Given the description of an element on the screen output the (x, y) to click on. 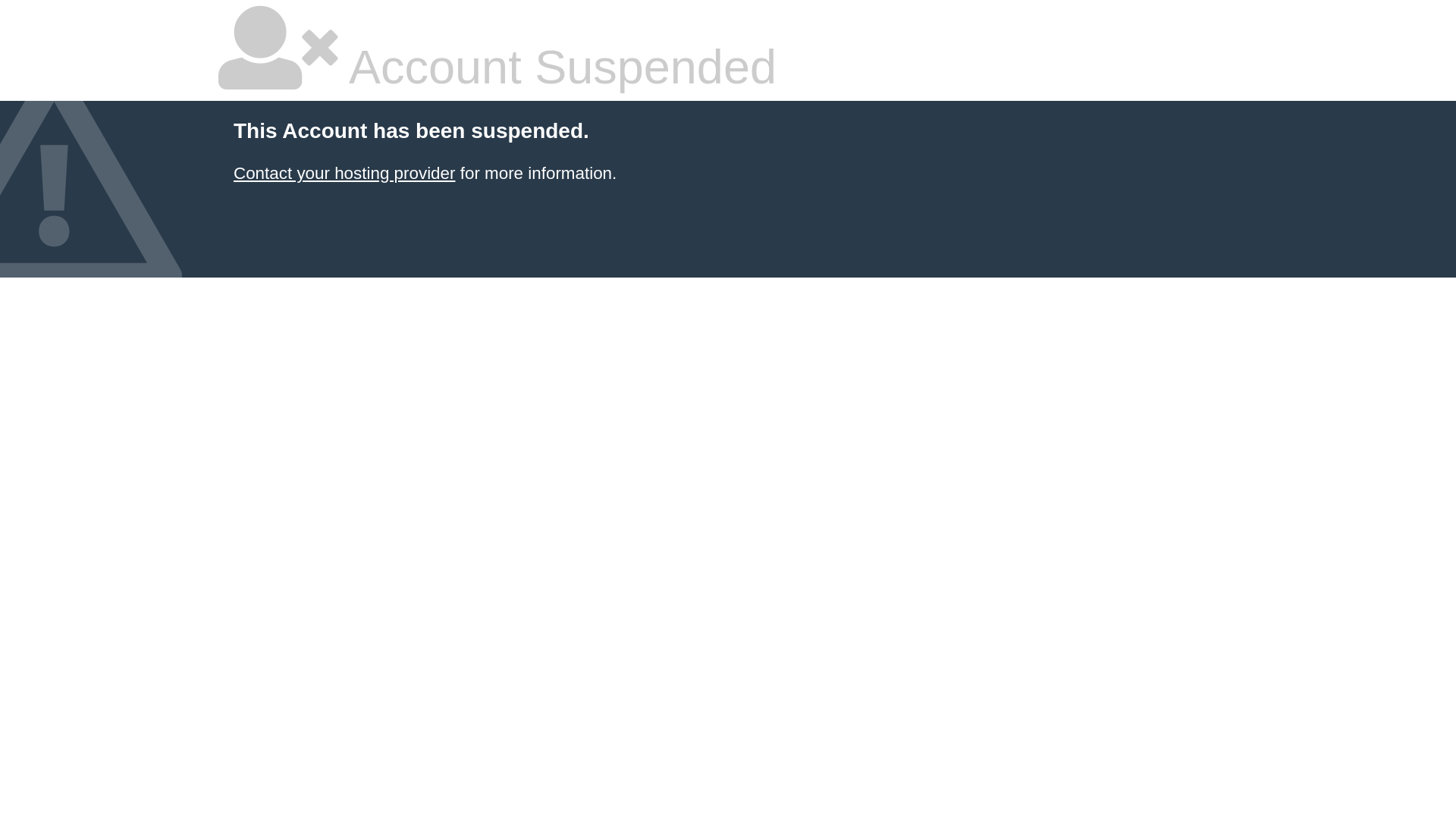
Contact your hosting provider Element type: text (344, 172)
